Given the description of an element on the screen output the (x, y) to click on. 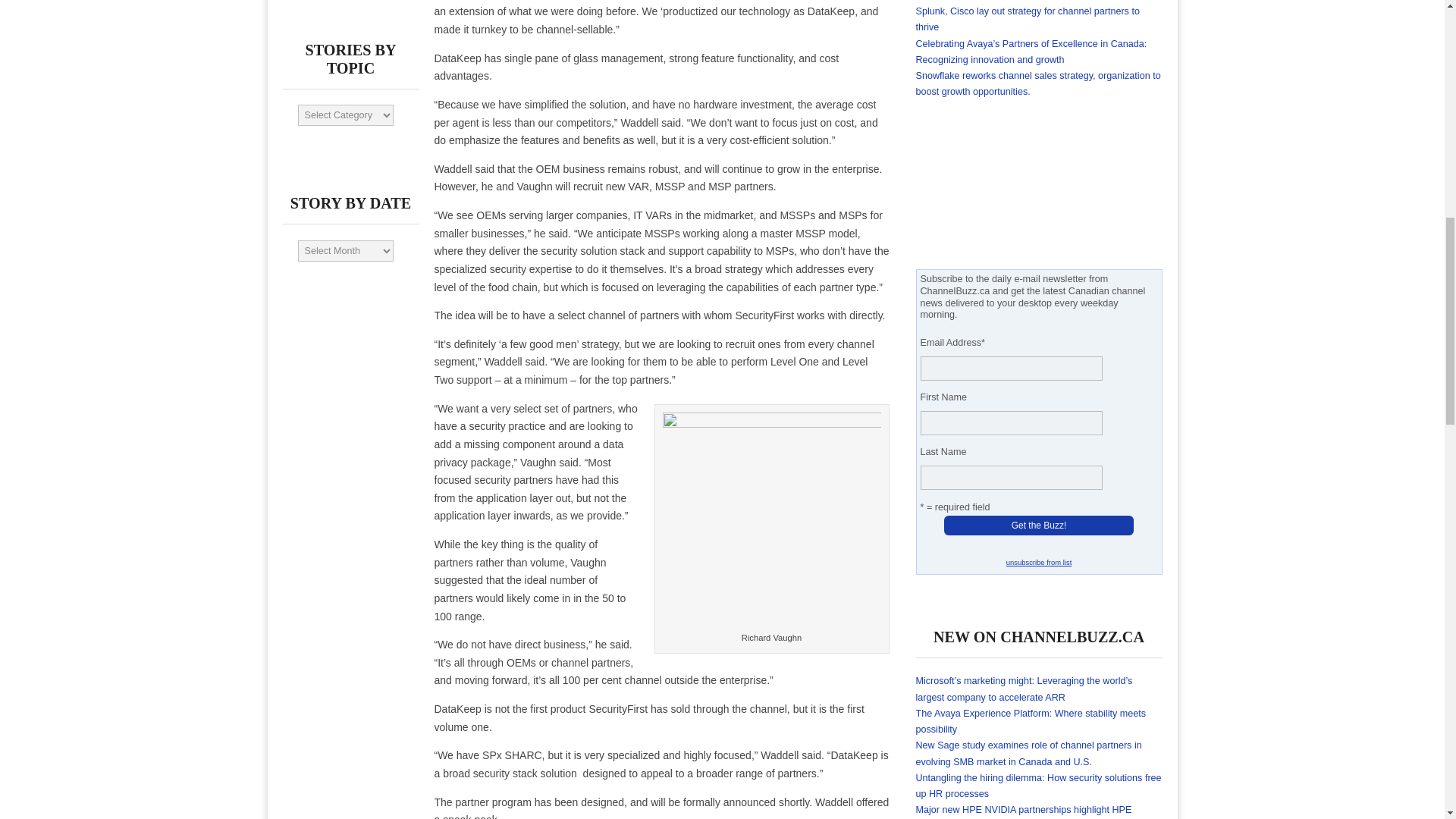
Get the Buzz! (1038, 525)
